Given the description of an element on the screen output the (x, y) to click on. 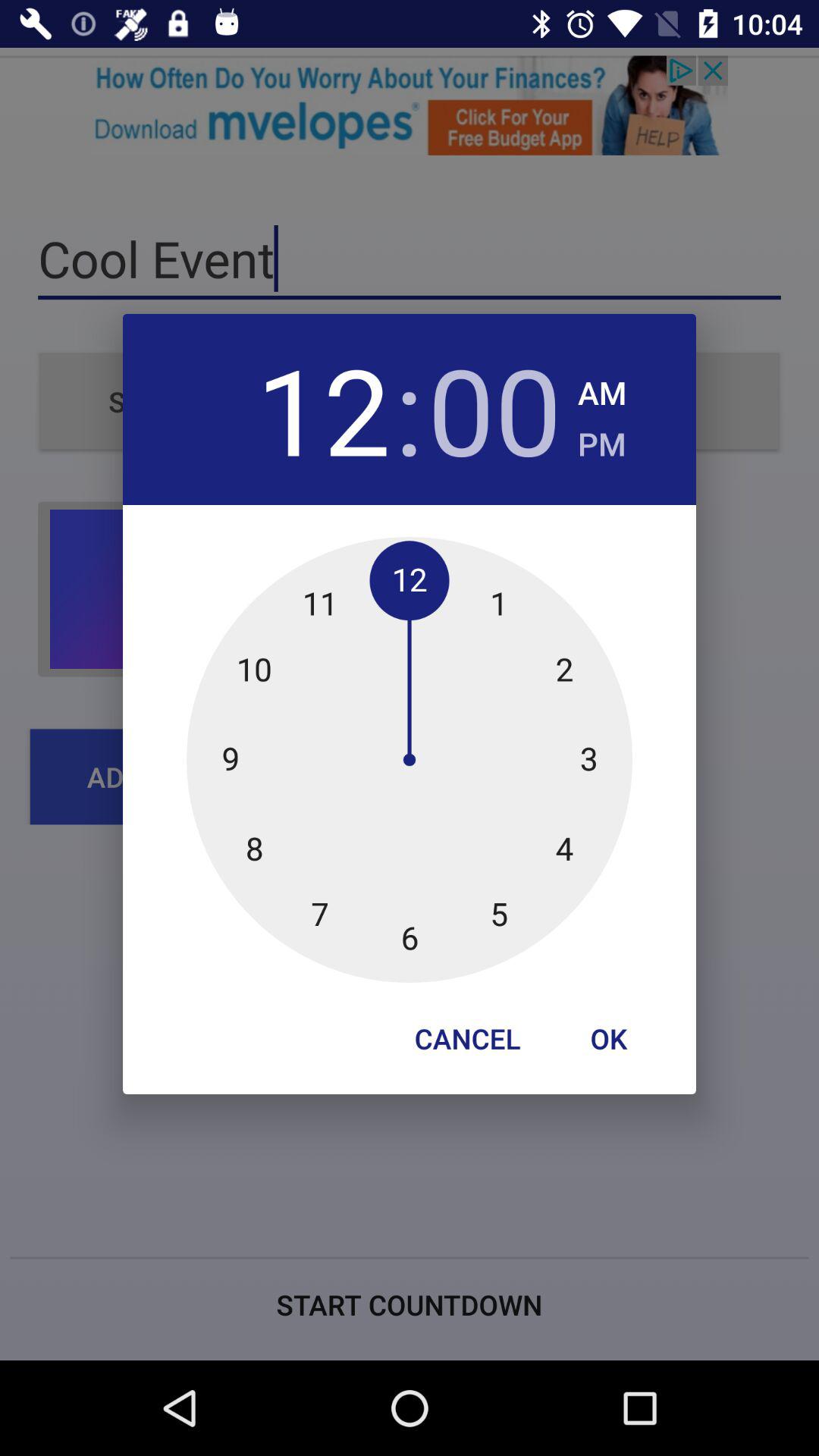
jump until the am (601, 388)
